Given the description of an element on the screen output the (x, y) to click on. 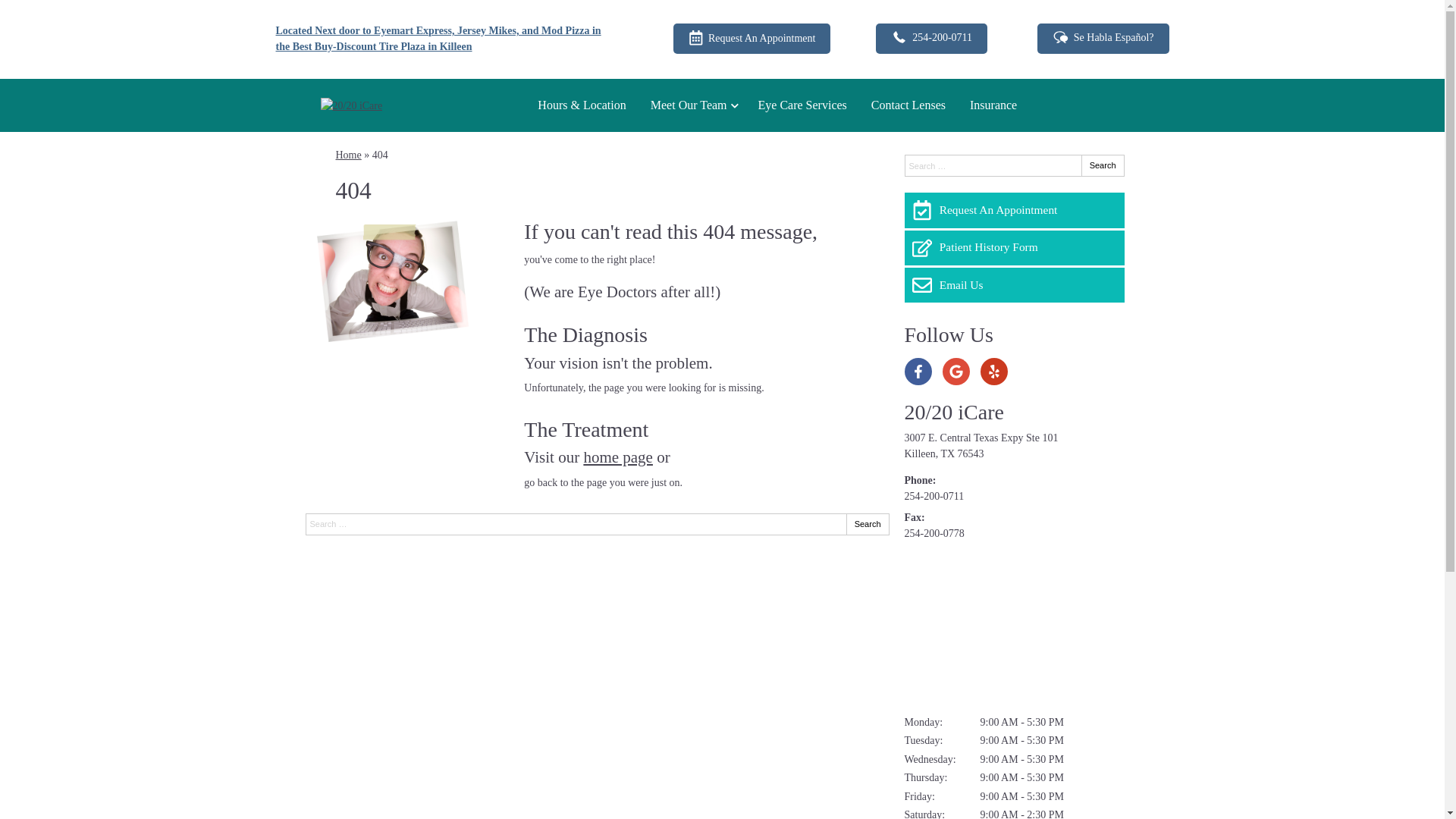
Patient History Form Element type: text (1013, 247)
Meet Our Team Element type: text (692, 104)
Insurance Element type: text (993, 104)
254-200-0711 Element type: text (931, 38)
Eye Care Services Element type: text (802, 104)
Search Element type: text (1102, 165)
Google map Element type: hover (1013, 627)
Home Element type: text (347, 154)
Search Element type: text (867, 523)
Request An Appointment Element type: text (1013, 209)
Email Us Element type: text (1013, 284)
home page Element type: text (617, 457)
254-200-0711 Element type: text (933, 496)
20/20 iCare Element type: text (953, 411)
Contact Lenses Element type: text (908, 104)
Hours & Location Element type: text (581, 104)
Request An Appointment Element type: text (751, 38)
